Given the description of an element on the screen output the (x, y) to click on. 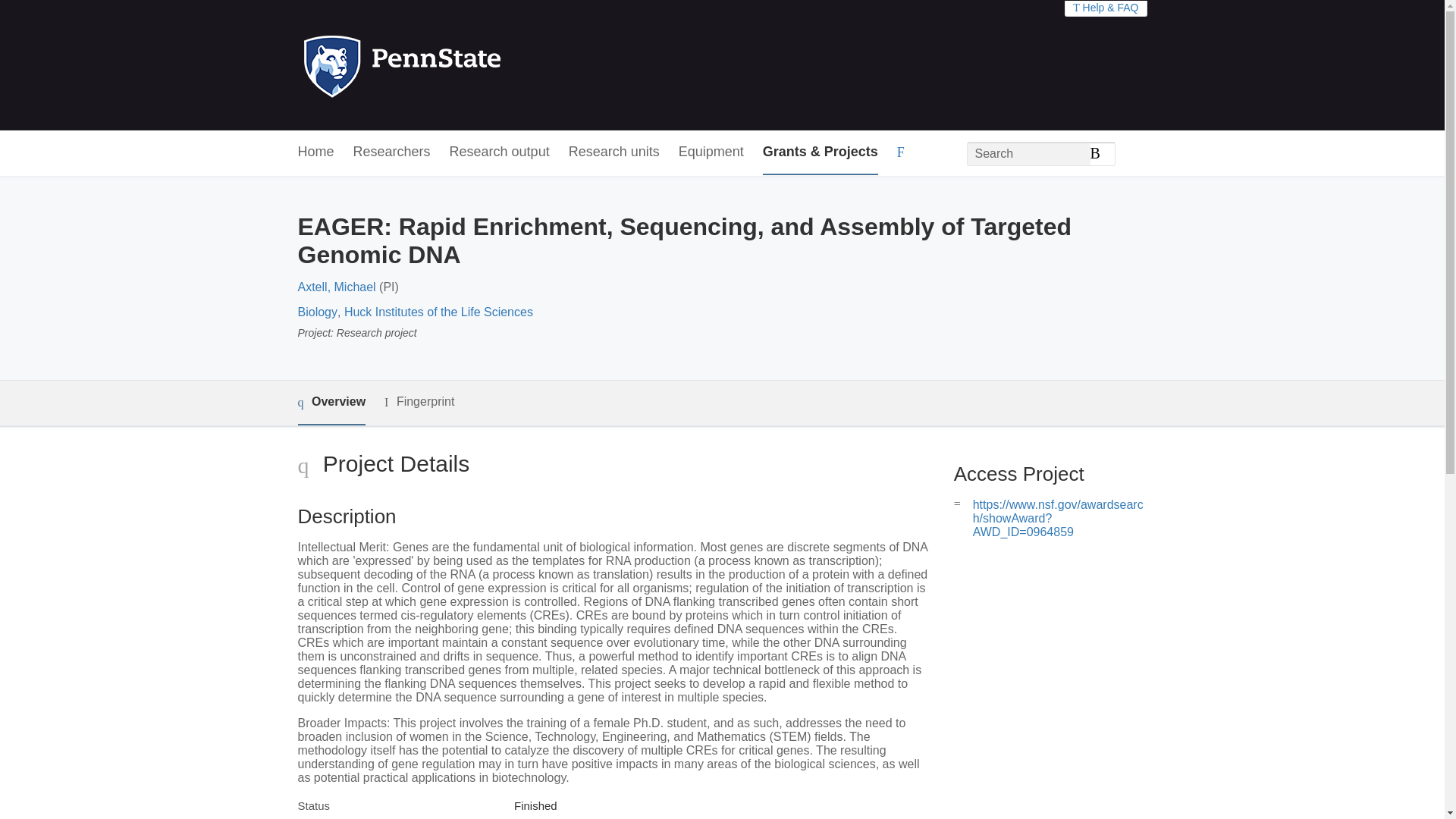
Equipment (711, 152)
Huck Institutes of the Life Sciences (437, 311)
Researchers (391, 152)
Fingerprint (419, 402)
Axtell, Michael (336, 286)
Research output (499, 152)
Overview (331, 402)
Research units (614, 152)
Biology (316, 311)
Penn State Home (467, 65)
